Given the description of an element on the screen output the (x, y) to click on. 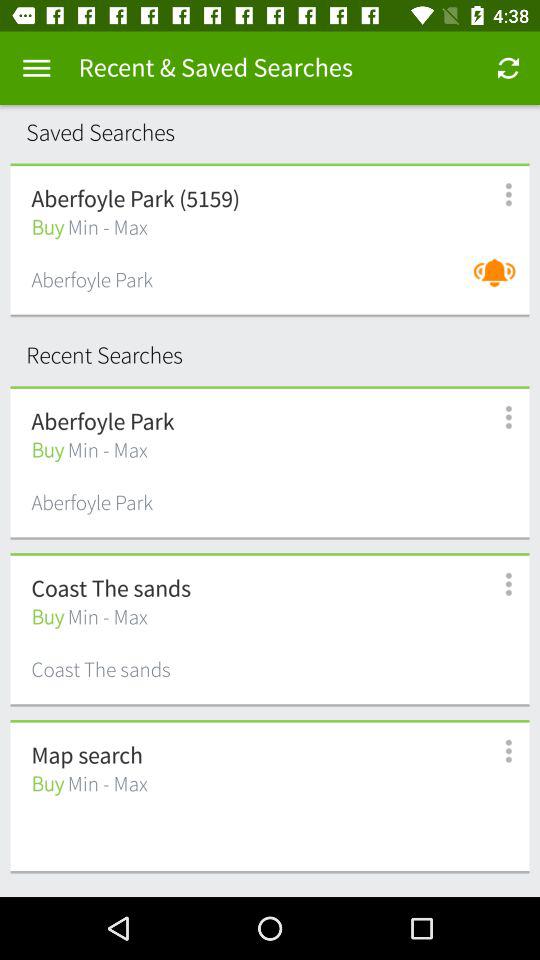
menu option (497, 751)
